Given the description of an element on the screen output the (x, y) to click on. 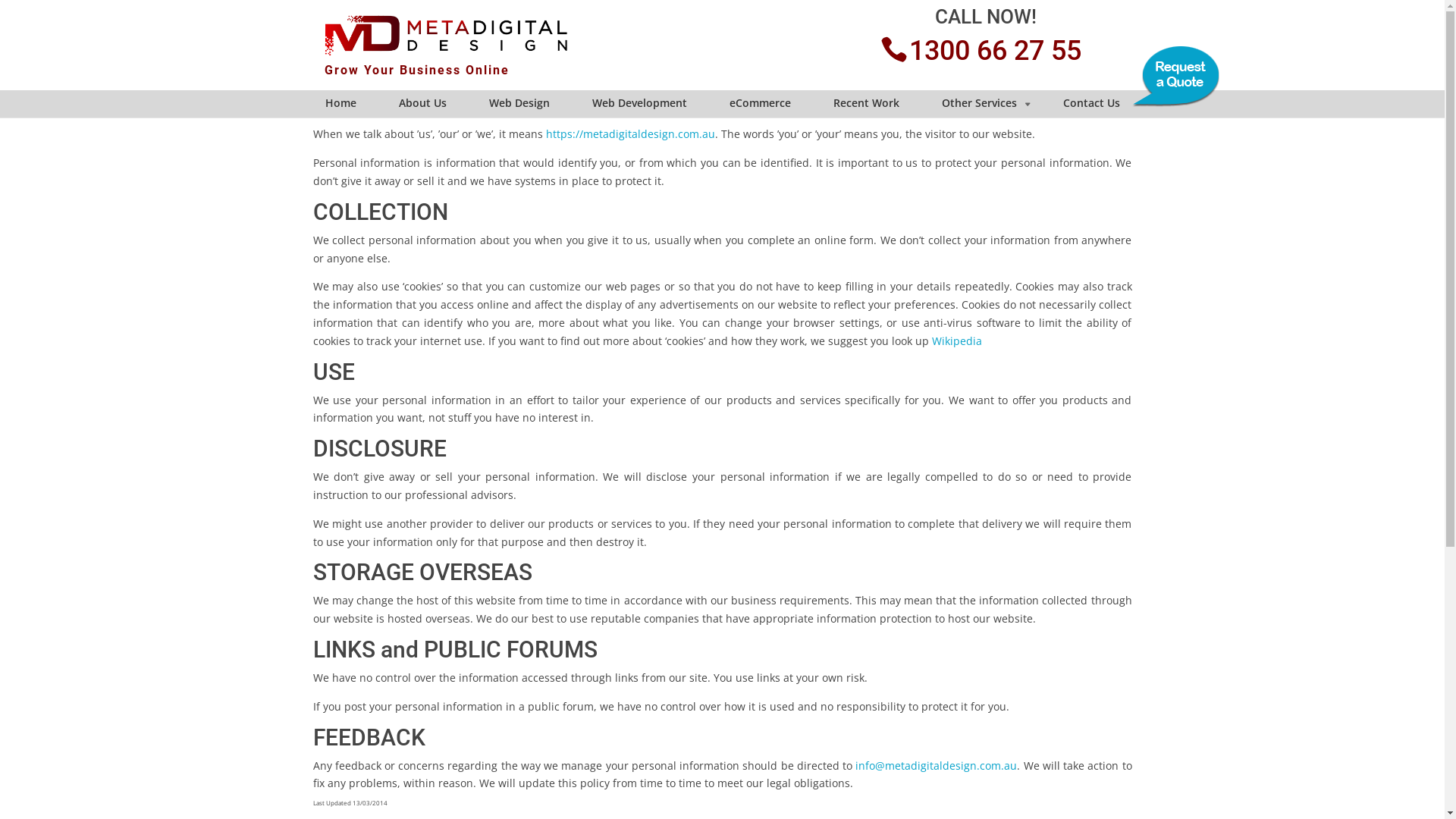
Recent Work Element type: text (866, 103)
Web Development Element type: text (639, 103)
info@metadigitaldesign.com.au Element type: text (935, 765)
About Us Element type: text (421, 103)
1300 66 27 55 Element type: text (985, 50)
Wikipedia Element type: text (956, 340)
Web Design Element type: text (519, 103)
Home Element type: text (340, 103)
Other Services Element type: text (980, 103)
Contact Us Element type: text (1090, 103)
eCommerce Element type: text (759, 103)
https://metadigitaldesign.com.au Element type: text (630, 133)
